Given the description of an element on the screen output the (x, y) to click on. 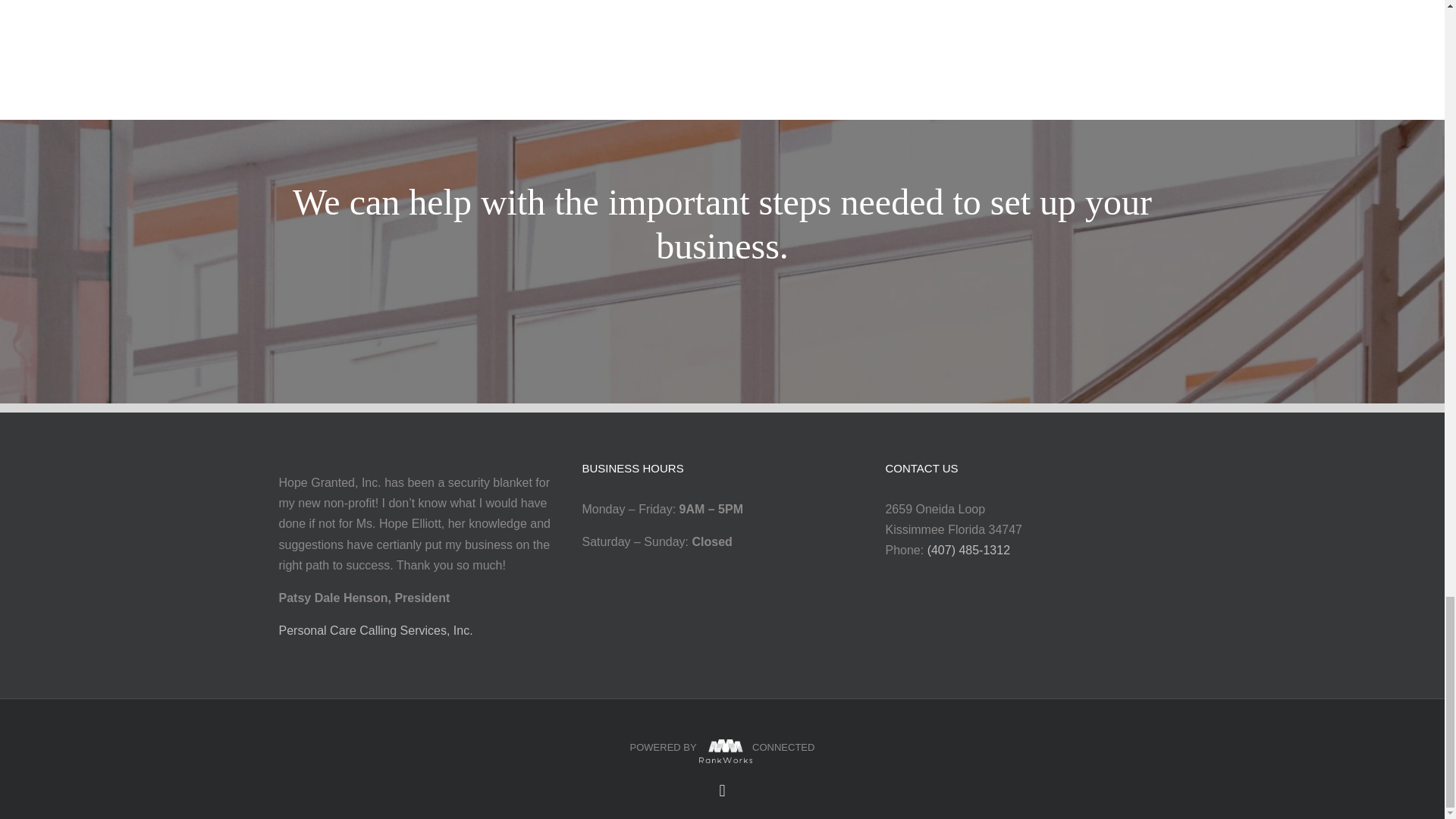
Facebook (722, 790)
Personal Care Calling Services, Inc.  (378, 630)
